Given the description of an element on the screen output the (x, y) to click on. 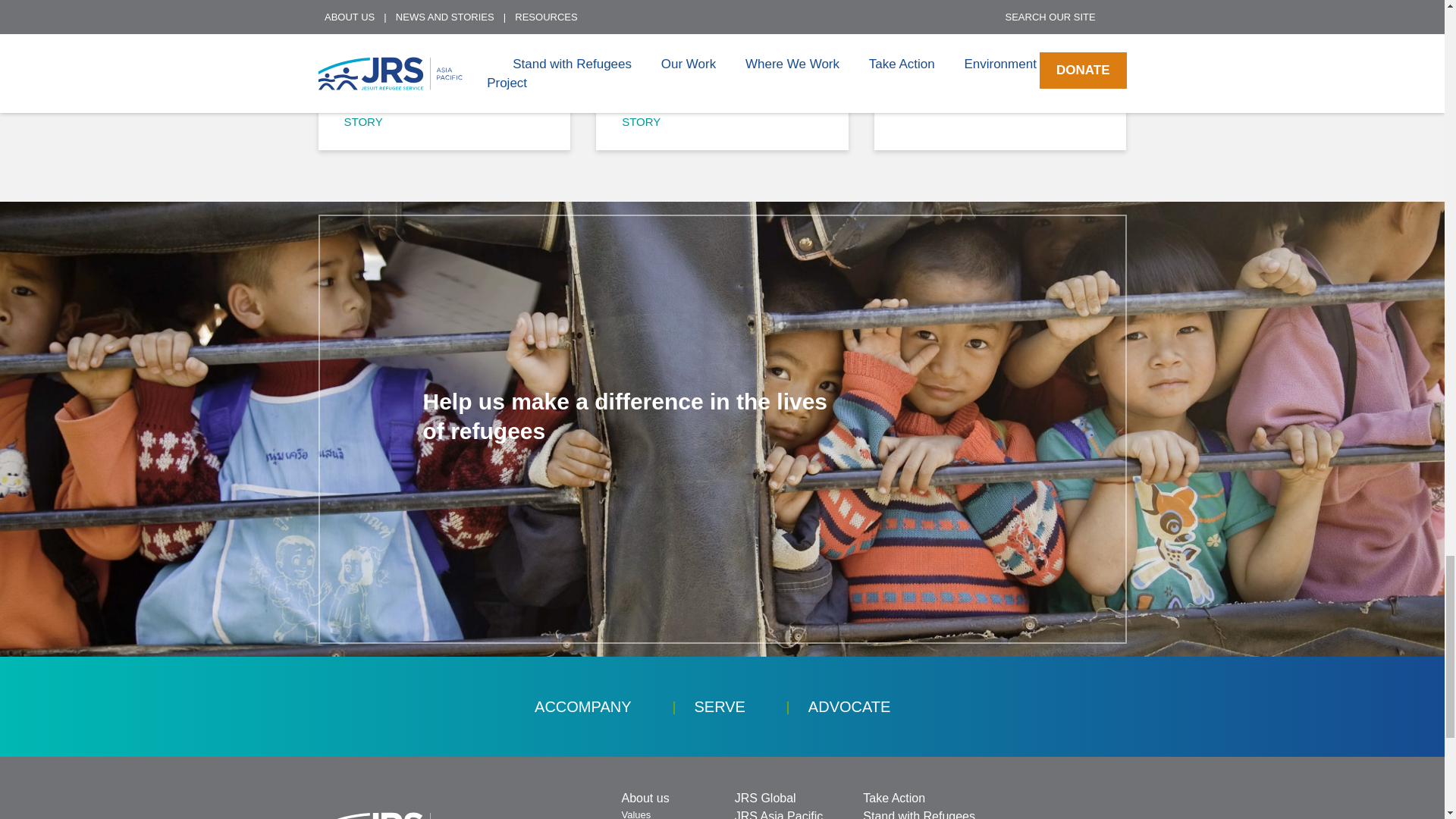
Values (635, 813)
JRS Global (765, 797)
Life of an IDP Mother in Myanmar (443, 49)
ACCOMPANY (582, 706)
Planting fish in the wrong season (721, 49)
JRS Asia Pacific (778, 814)
I love Nocnocan (999, 39)
About us (645, 797)
SERVE (719, 706)
ADVOCATE (849, 706)
